Given the description of an element on the screen output the (x, y) to click on. 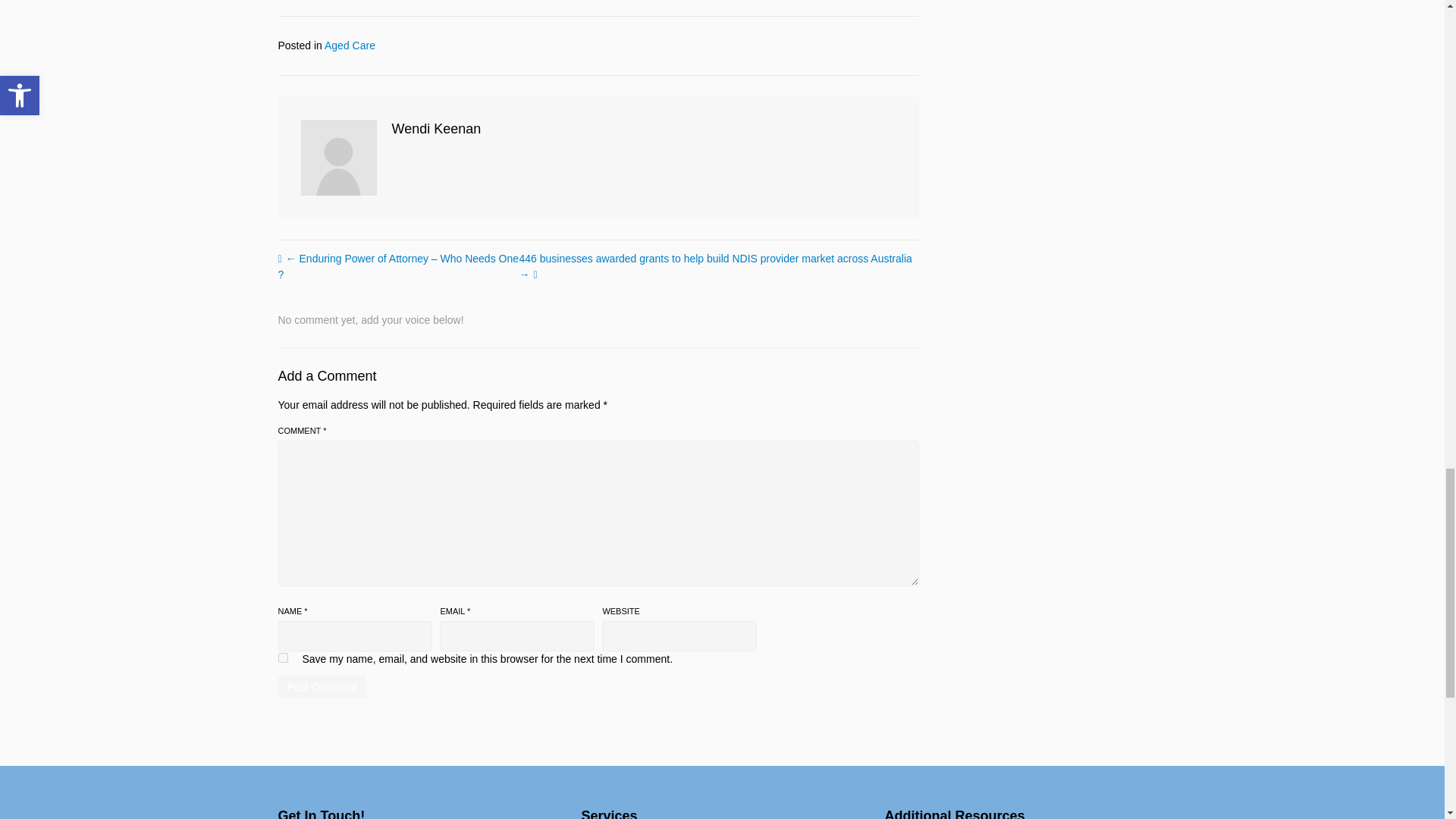
Aged Care (349, 45)
Enduring Power of Attorney - Who Needs One ? (398, 266)
yes (282, 657)
